Given the description of an element on the screen output the (x, y) to click on. 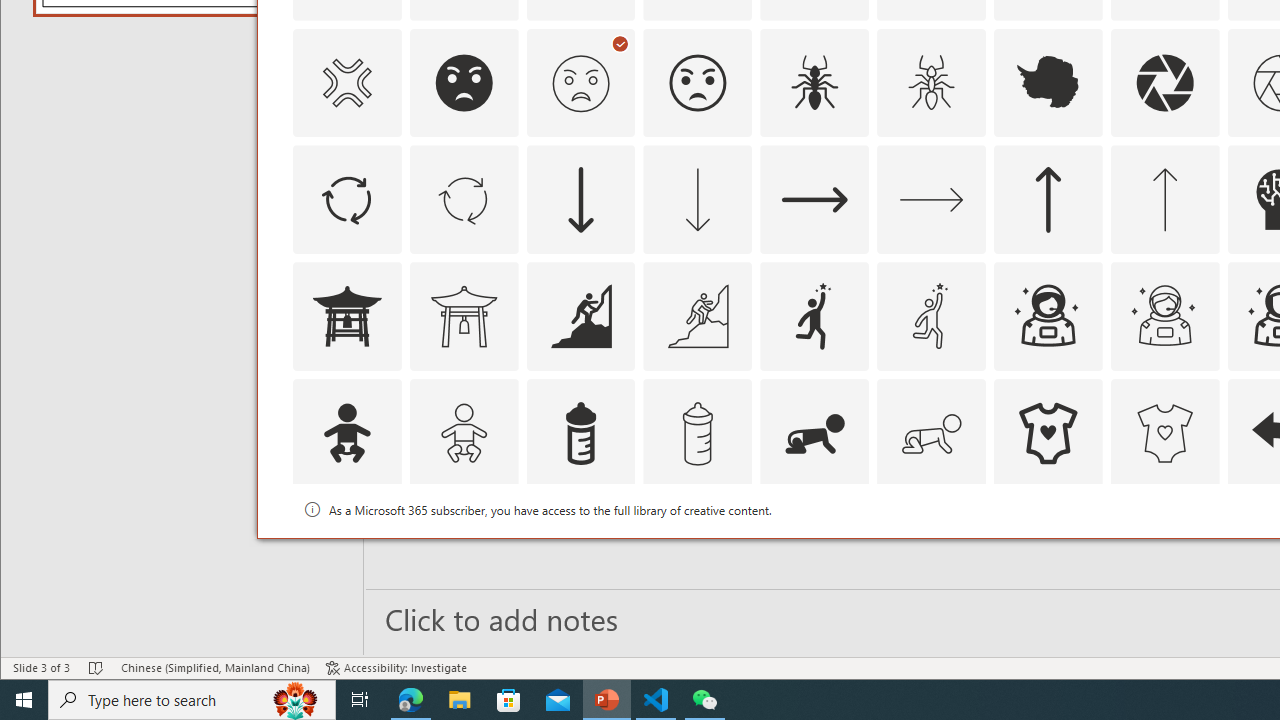
AutomationID: Icons_ArrowCircle_M (463, 200)
AutomationID: Icons_ArrowCircle (346, 200)
AutomationID: Icons_BabyBottle_M (697, 434)
